Given the description of an element on the screen output the (x, y) to click on. 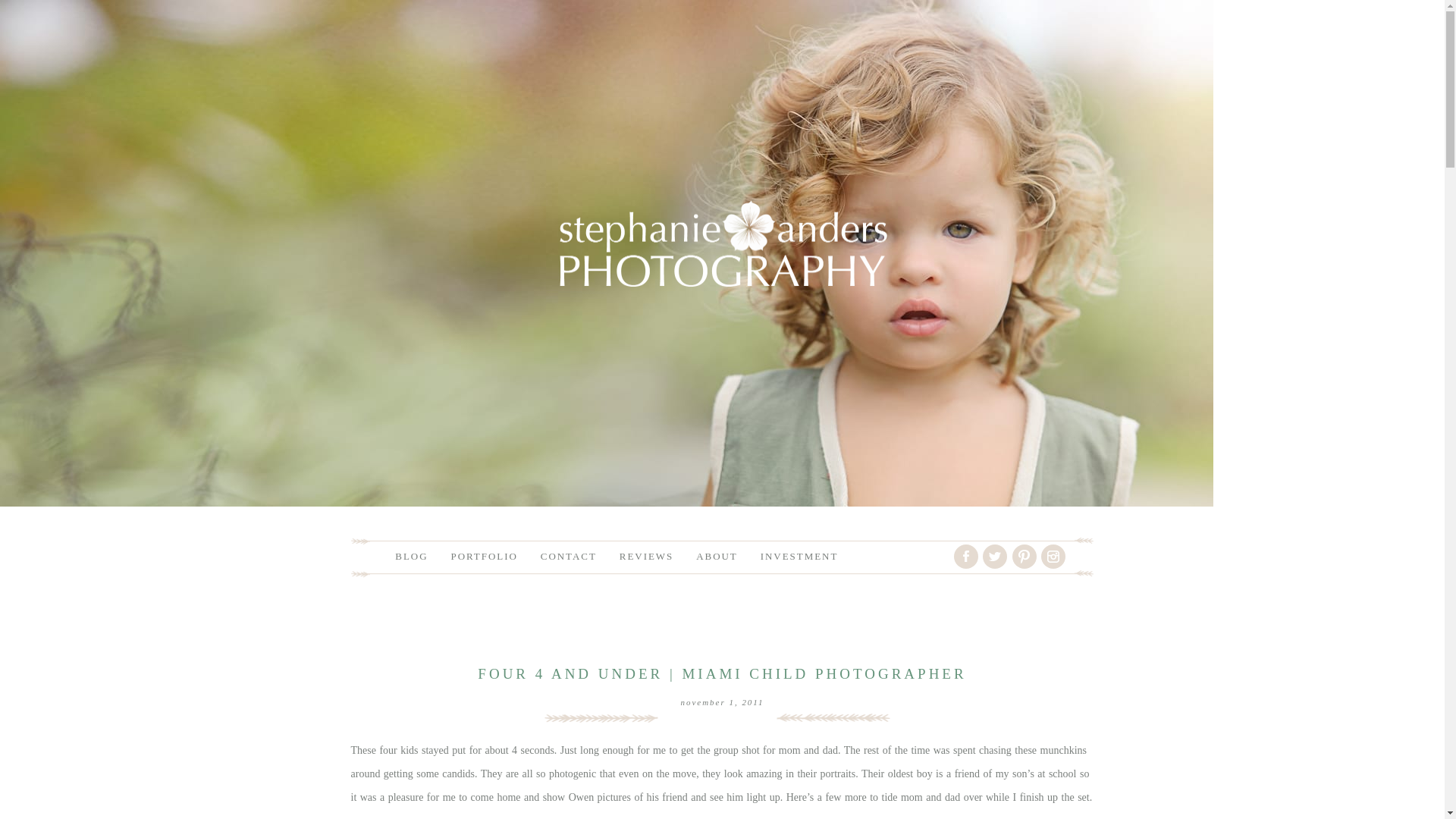
BLOG (411, 555)
INVESTMENT (799, 555)
REVIEWS (646, 555)
CONTACT (568, 555)
